Given the description of an element on the screen output the (x, y) to click on. 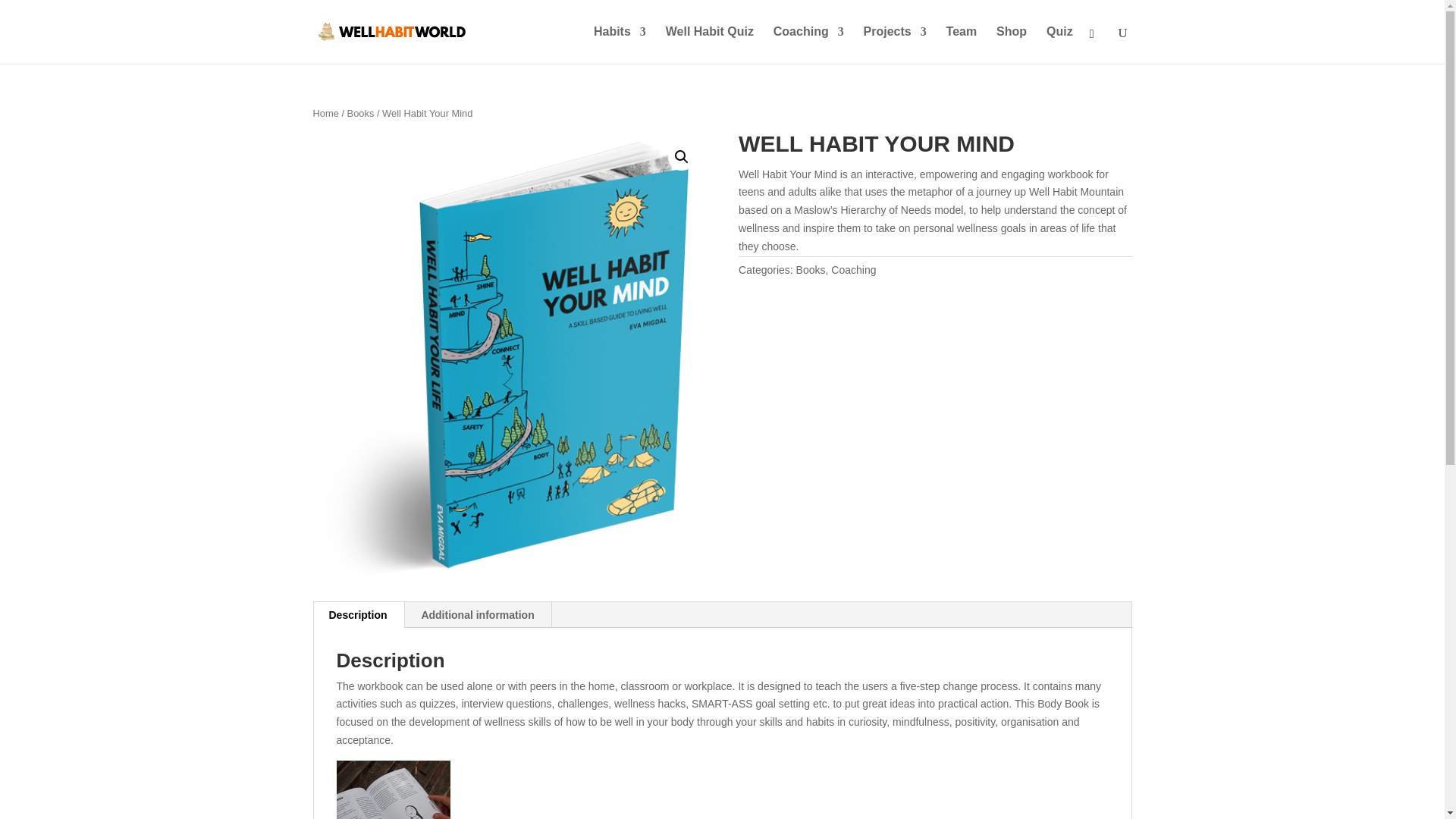
Well Habit Quiz (709, 44)
Projects (894, 44)
Habits (620, 44)
Coaching (808, 44)
